Given the description of an element on the screen output the (x, y) to click on. 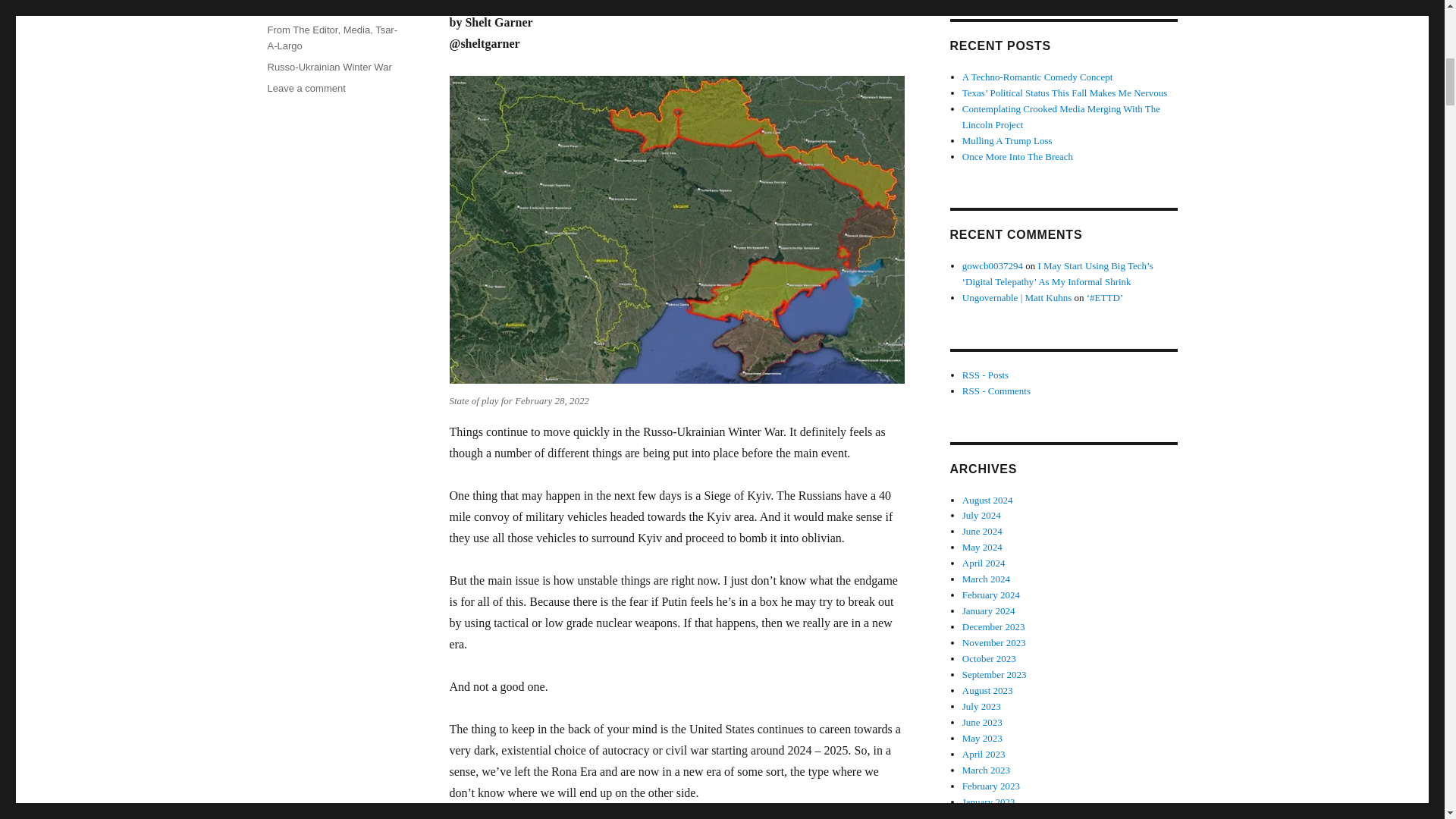
Tsar-A-Largo (331, 37)
From The Editor (301, 30)
February 28, 2022 (306, 8)
Russo-Ukrainian Winter War (328, 66)
Media (356, 30)
